Given the description of an element on the screen output the (x, y) to click on. 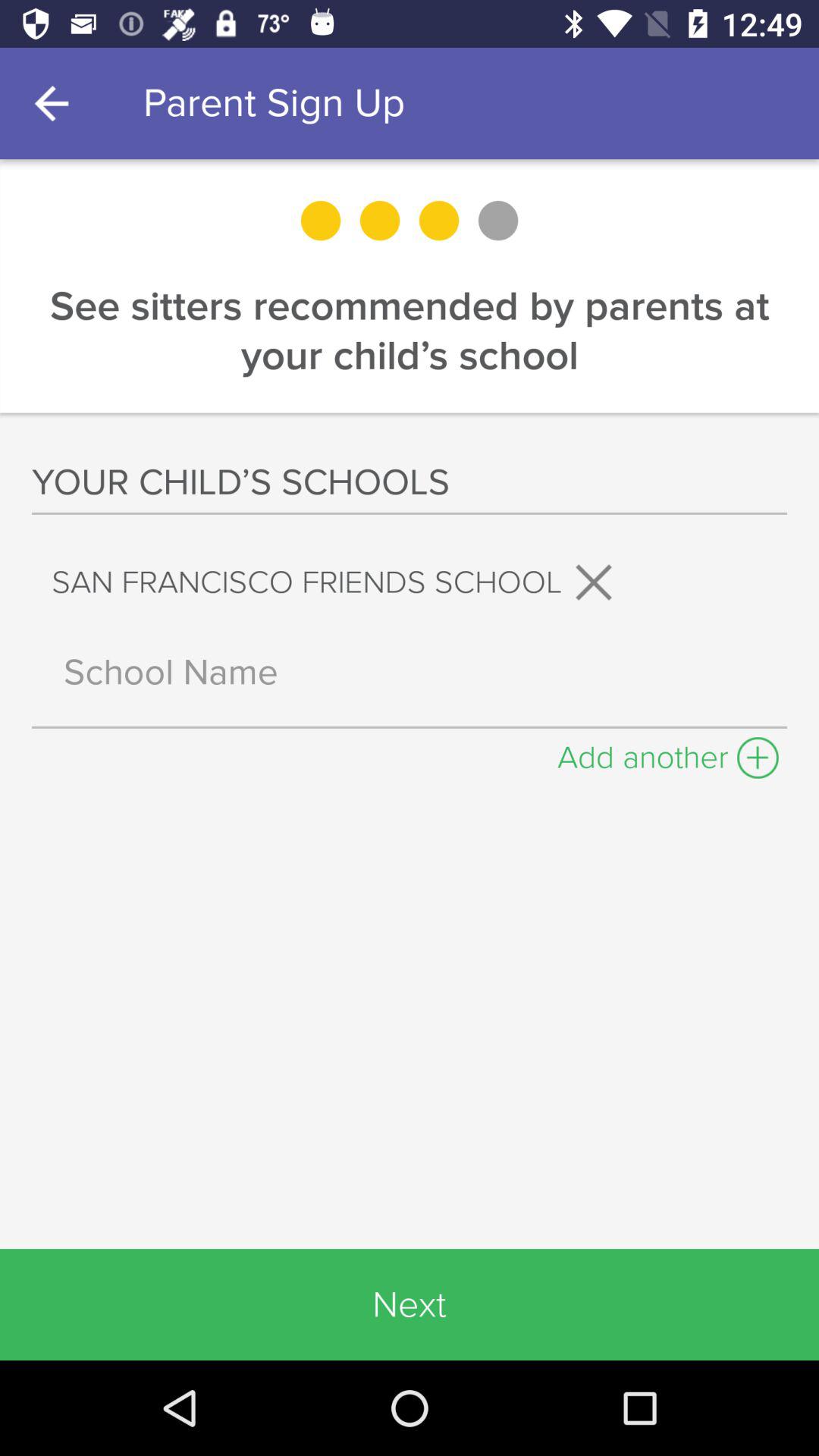
input school name (409, 672)
